Given the description of an element on the screen output the (x, y) to click on. 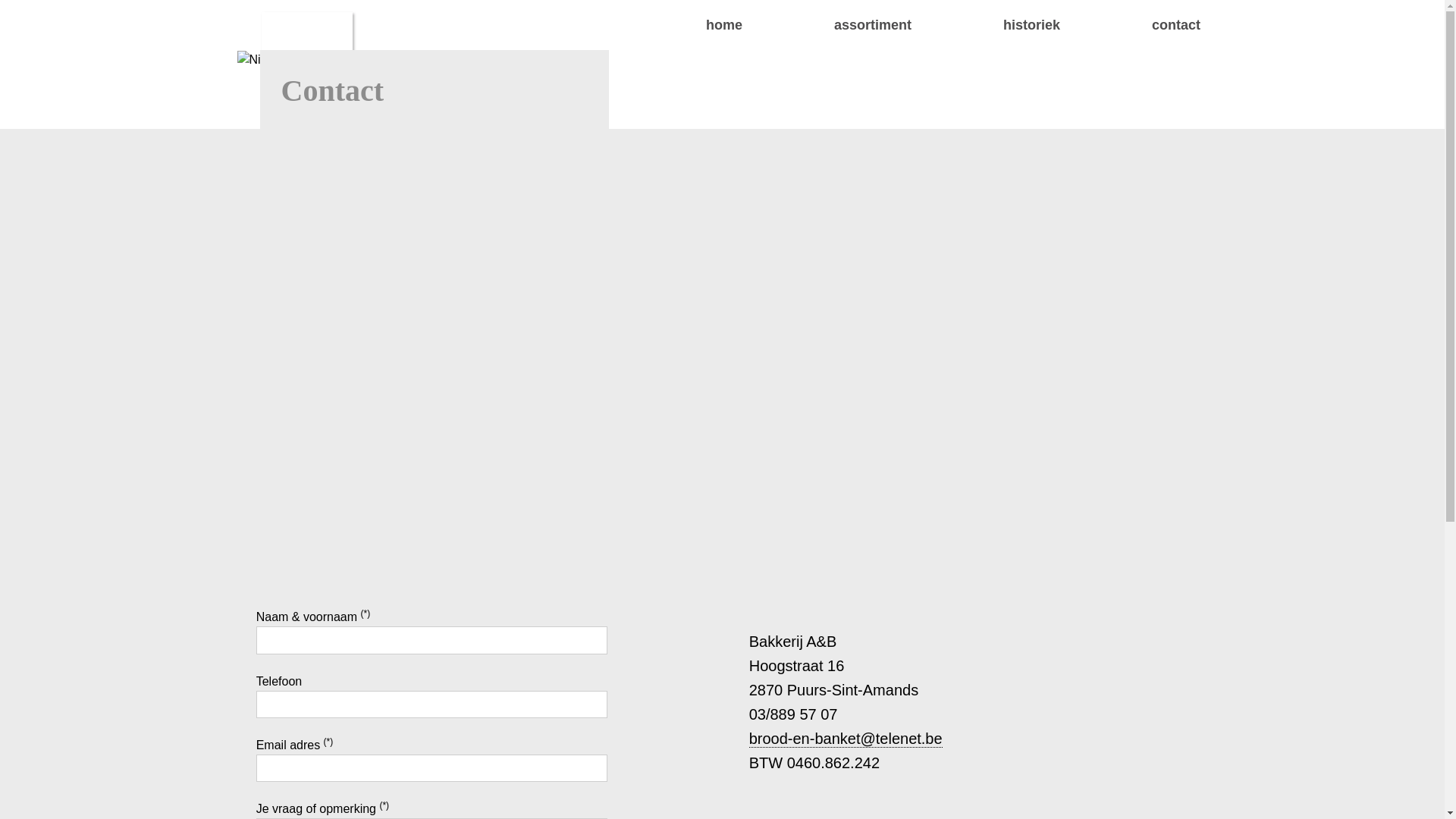
brood-en-banket@telenet.be Element type: text (845, 738)
historiek Element type: text (988, 24)
home Element type: text (681, 24)
assortiment Element type: text (829, 24)
Bakkerij Anke & Bart Element type: text (305, 66)
contact Element type: text (1133, 24)
